Given the description of an element on the screen output the (x, y) to click on. 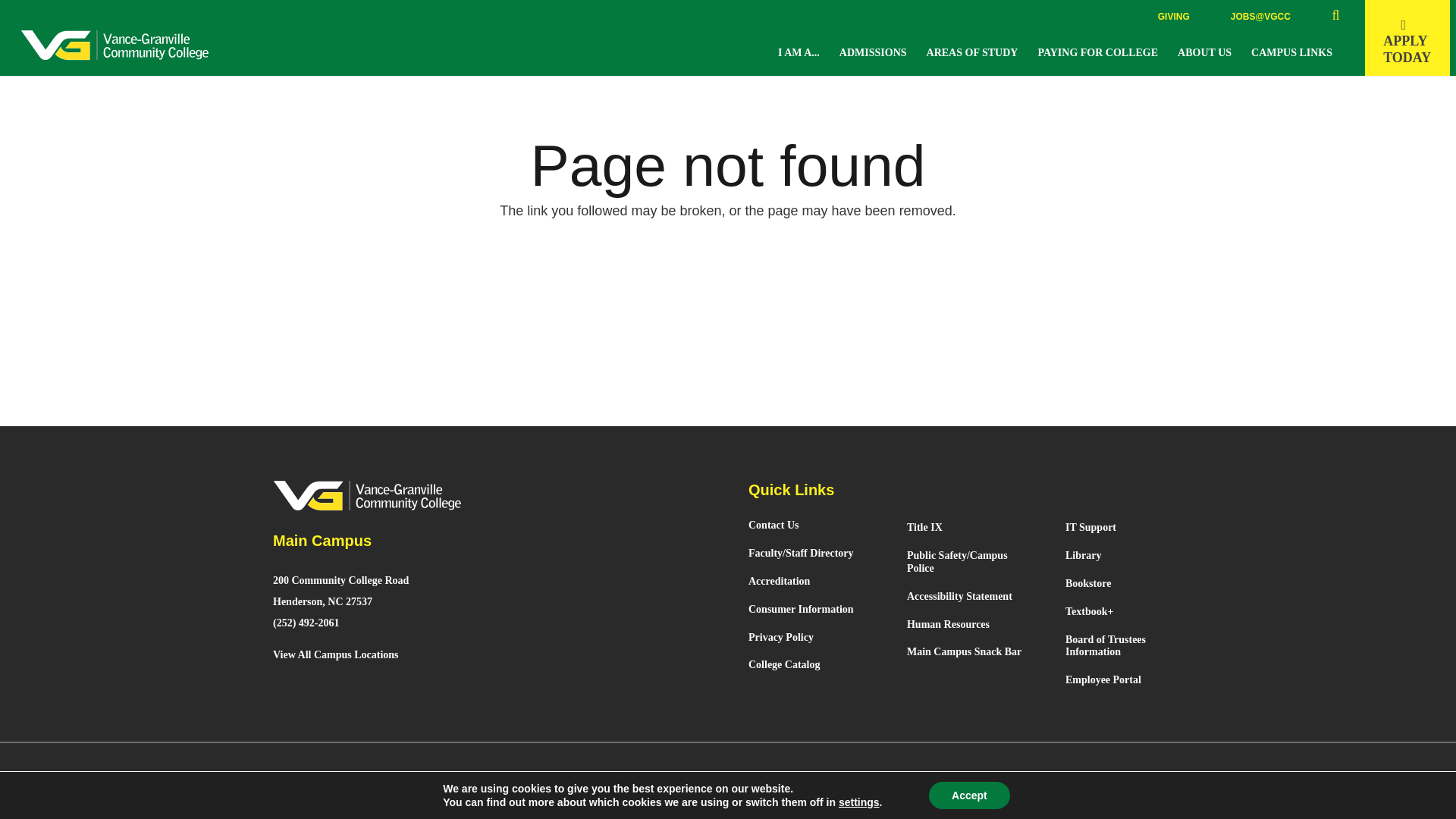
AREAS OF STUDY (974, 52)
PAYING FOR COLLEGE (1407, 38)
GIVING (1099, 52)
ADMISSIONS (1173, 16)
ABOUT US (874, 52)
I AM A... (1206, 52)
